Given the description of an element on the screen output the (x, y) to click on. 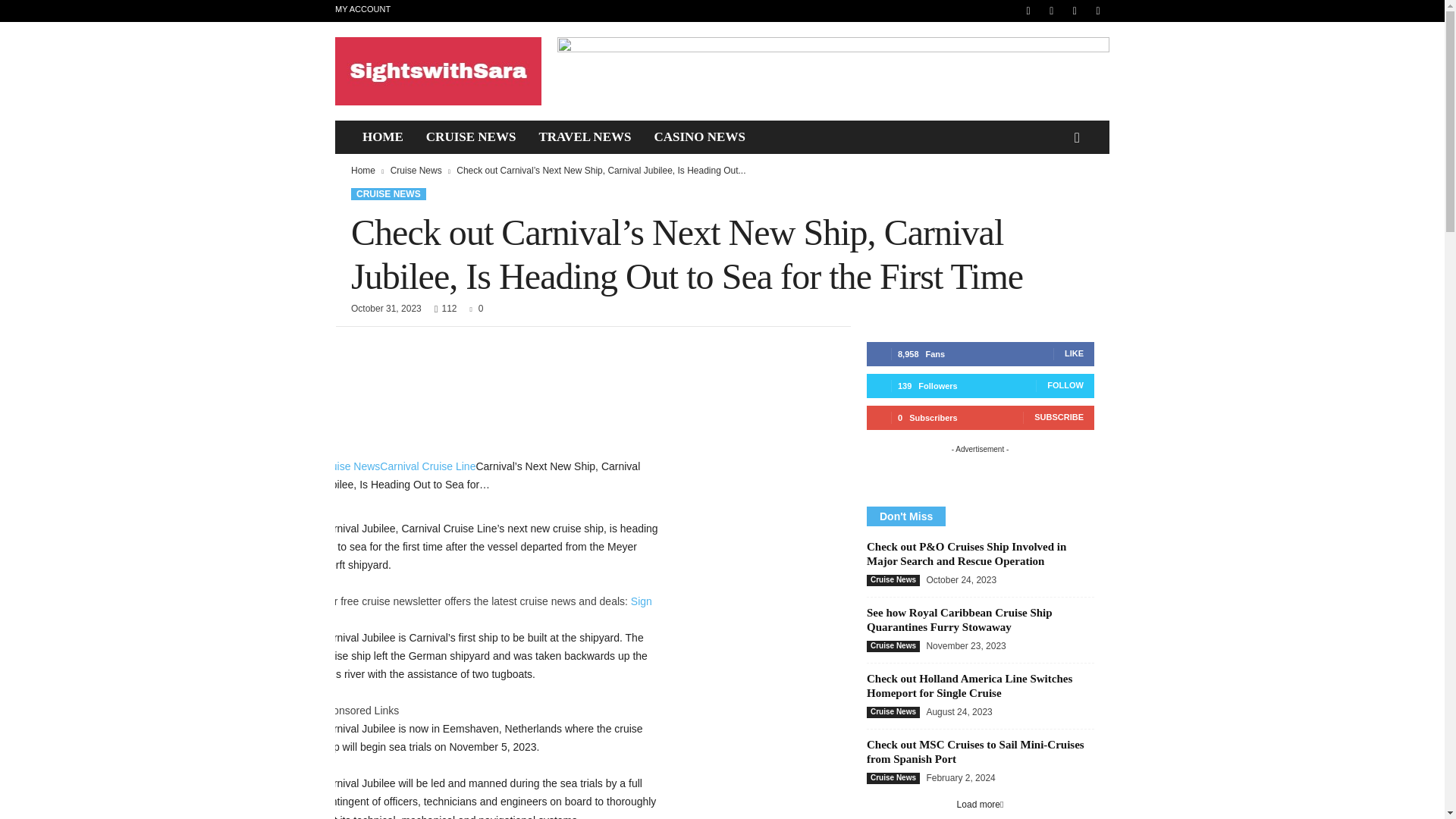
HOME (382, 136)
CRUISE NEWS (388, 193)
Cruise News (416, 170)
Home (362, 170)
CASINO NEWS (698, 136)
0 (473, 308)
TRAVEL NEWS (584, 136)
View all posts in Cruise News (416, 170)
CRUISE NEWS (470, 136)
SightswithSara (437, 70)
